Given the description of an element on the screen output the (x, y) to click on. 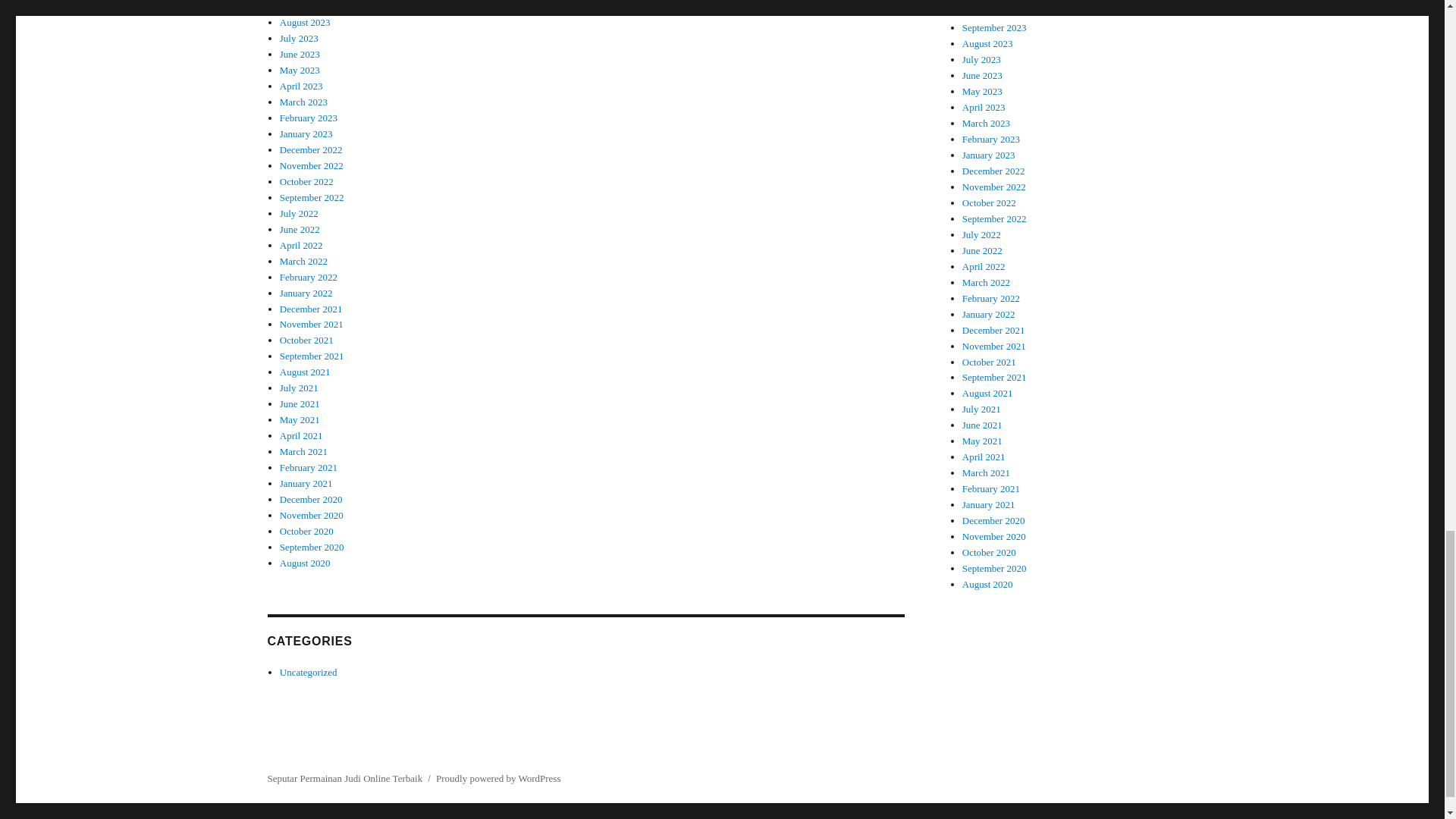
December 2022 (310, 149)
March 2023 (303, 101)
June 2023 (299, 53)
May 2023 (299, 70)
June 2022 (299, 229)
January 2022 (306, 292)
September 2022 (311, 197)
April 2023 (301, 85)
January 2023 (306, 133)
March 2022 (303, 260)
December 2021 (310, 308)
November 2022 (311, 165)
October 2022 (306, 181)
September 2023 (311, 6)
February 2022 (308, 276)
